Given the description of an element on the screen output the (x, y) to click on. 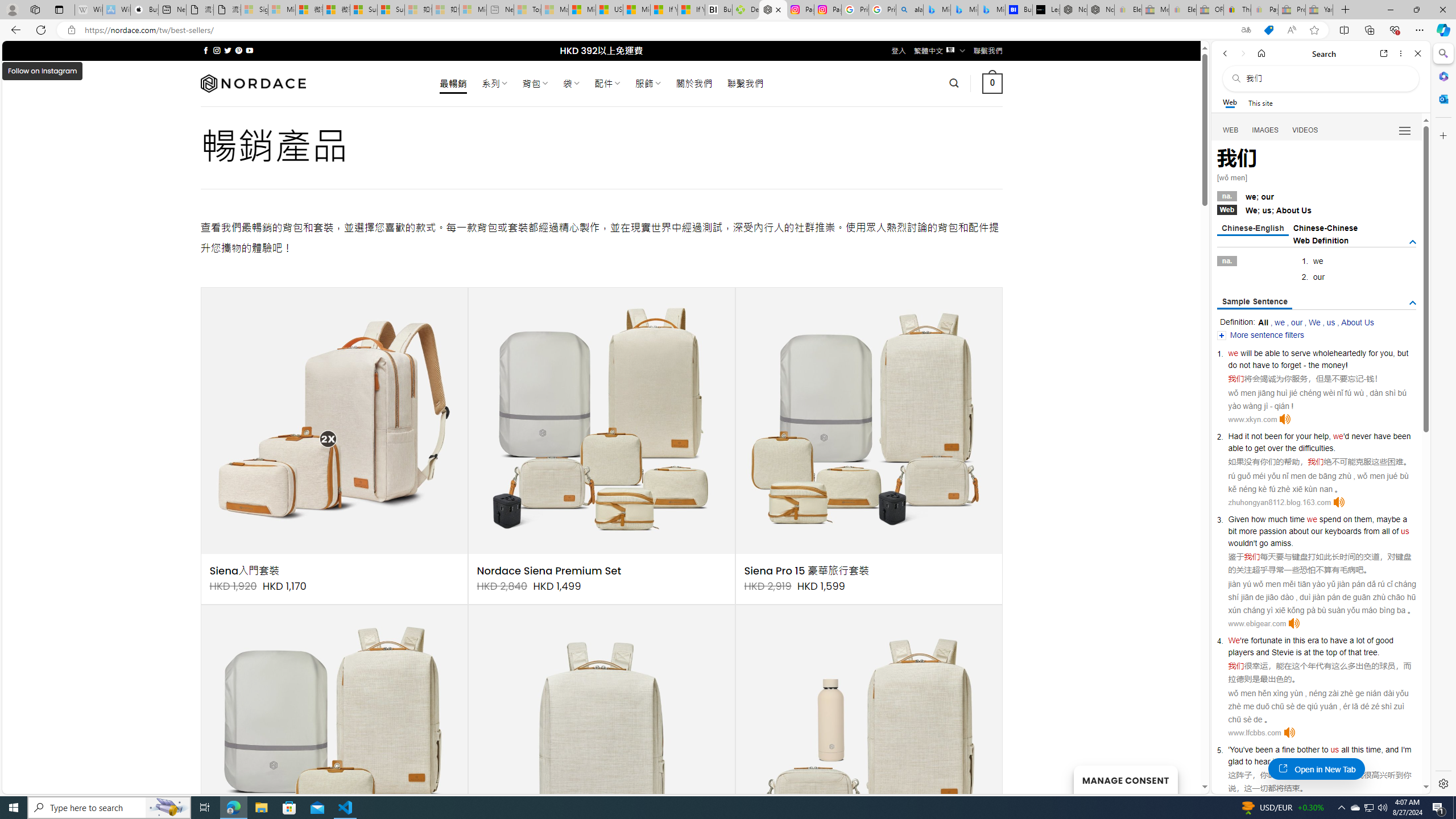
your (1303, 435)
spend (1329, 519)
We (1233, 640)
Given (1238, 519)
you (1386, 352)
